Given the description of an element on the screen output the (x, y) to click on. 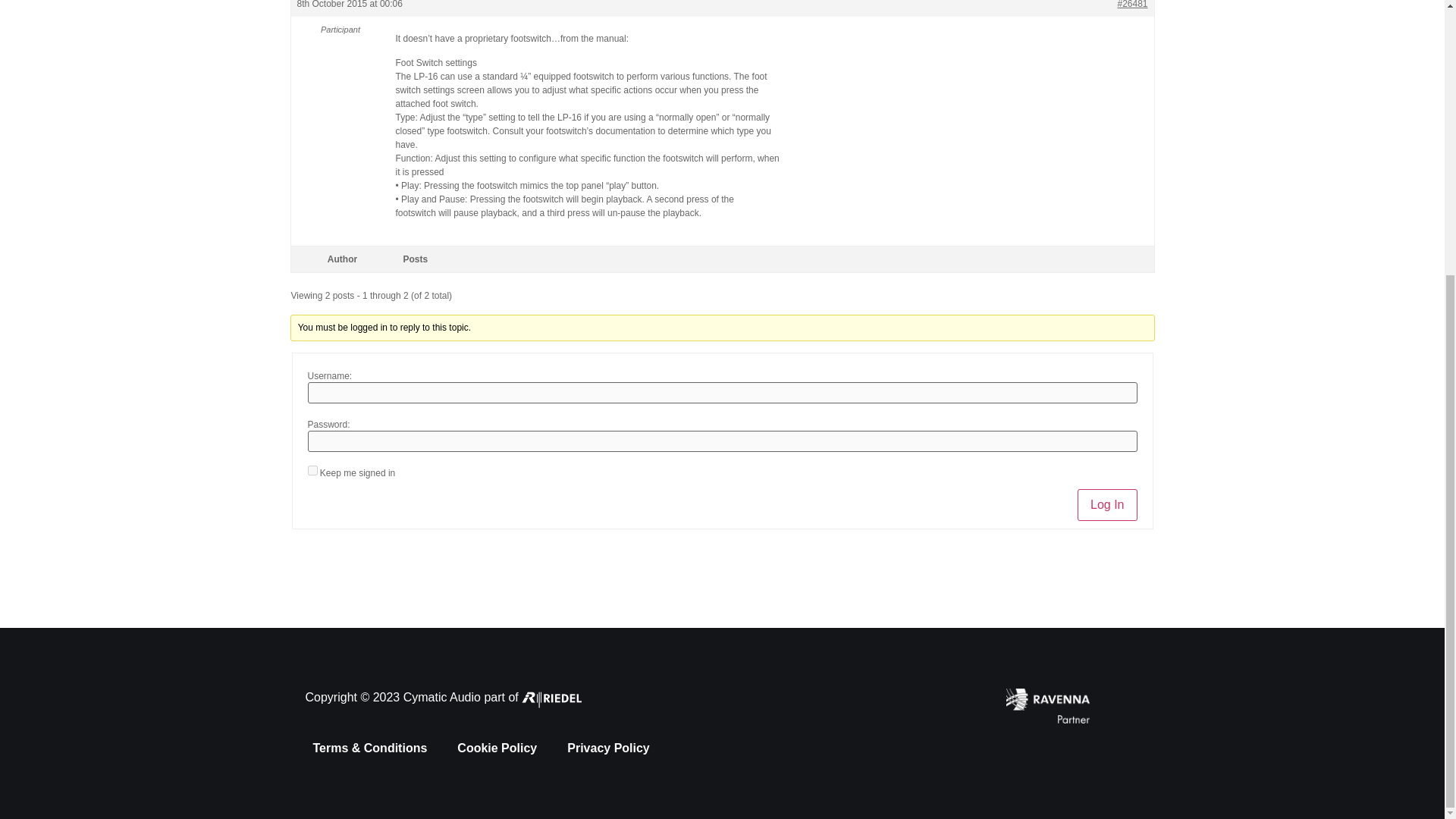
Log In (1107, 504)
Cookie Policy (496, 748)
Privacy Policy (608, 748)
forever (312, 470)
